Given the description of an element on the screen output the (x, y) to click on. 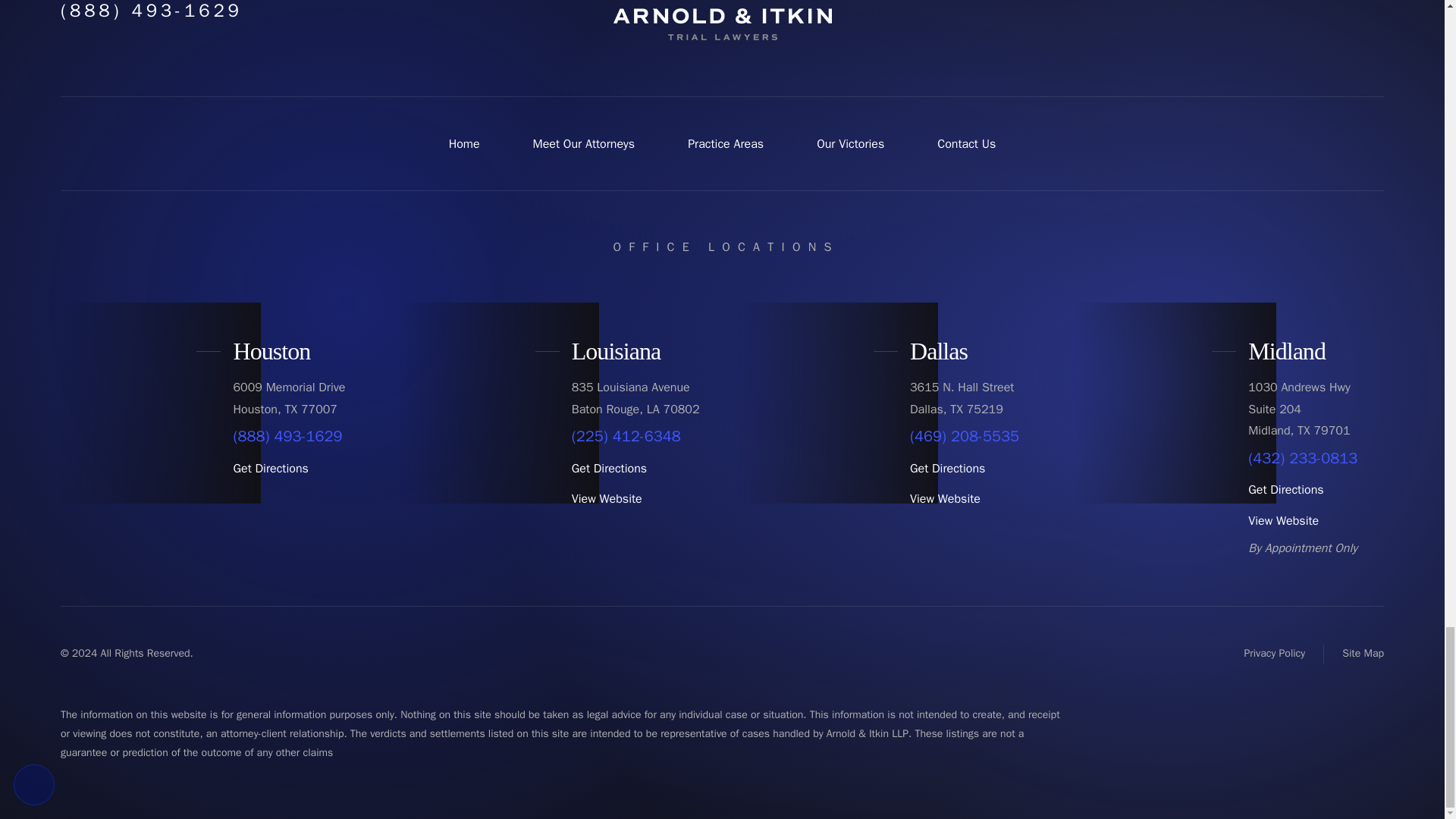
YouTube (1296, 4)
LinkedIn (1366, 4)
Twitter (1261, 4)
Facebook (1227, 4)
Instagram (1331, 4)
